Given the description of an element on the screen output the (x, y) to click on. 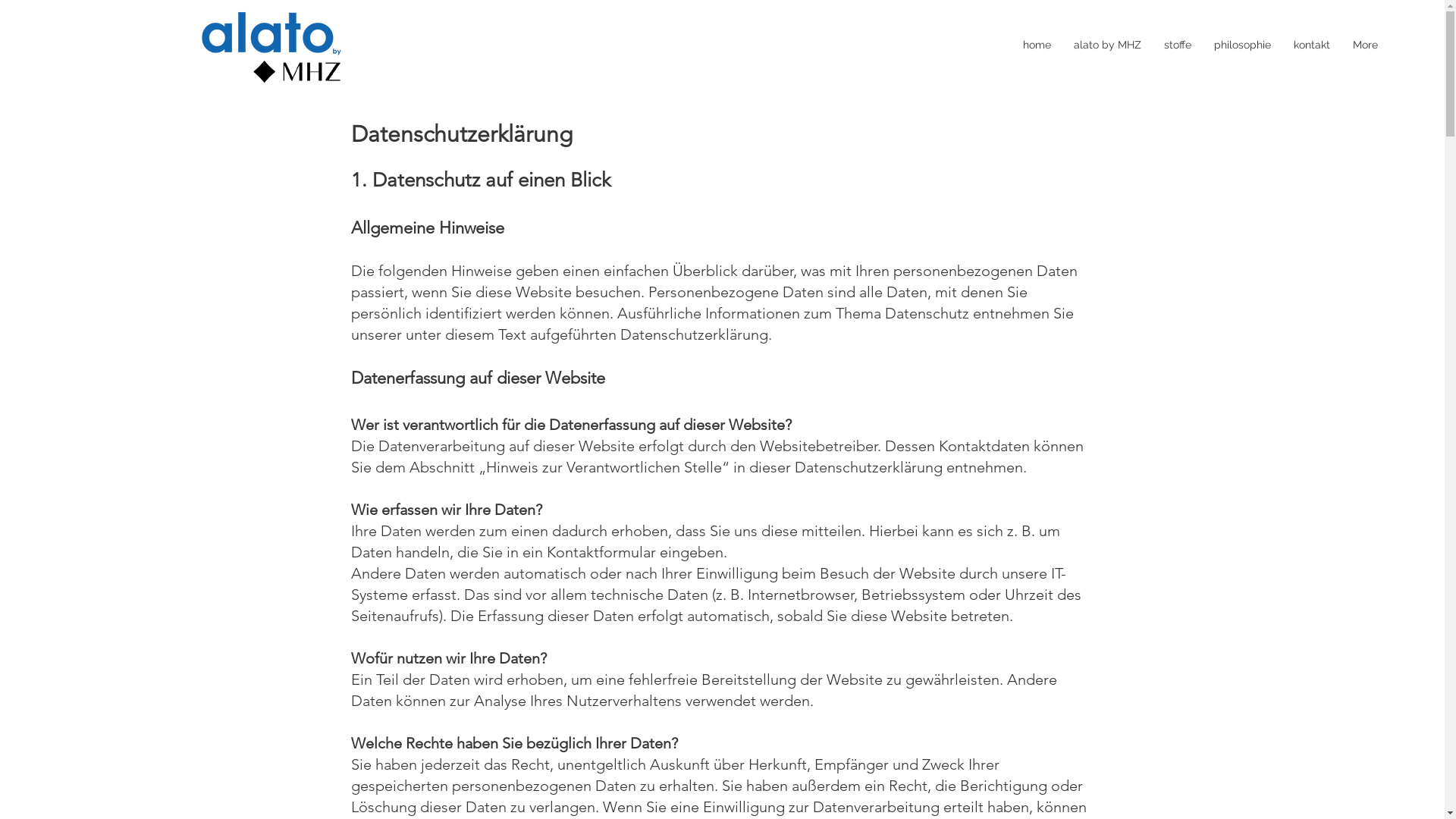
kontakt Element type: text (1310, 74)
stoffe Element type: text (1177, 74)
logo_alato_mhz_entwurf_nr6_farbig_klein. Element type: hover (269, 43)
alato by MHZ Element type: text (1106, 74)
home Element type: text (1036, 74)
philosophie Element type: text (1242, 74)
